Given the description of an element on the screen output the (x, y) to click on. 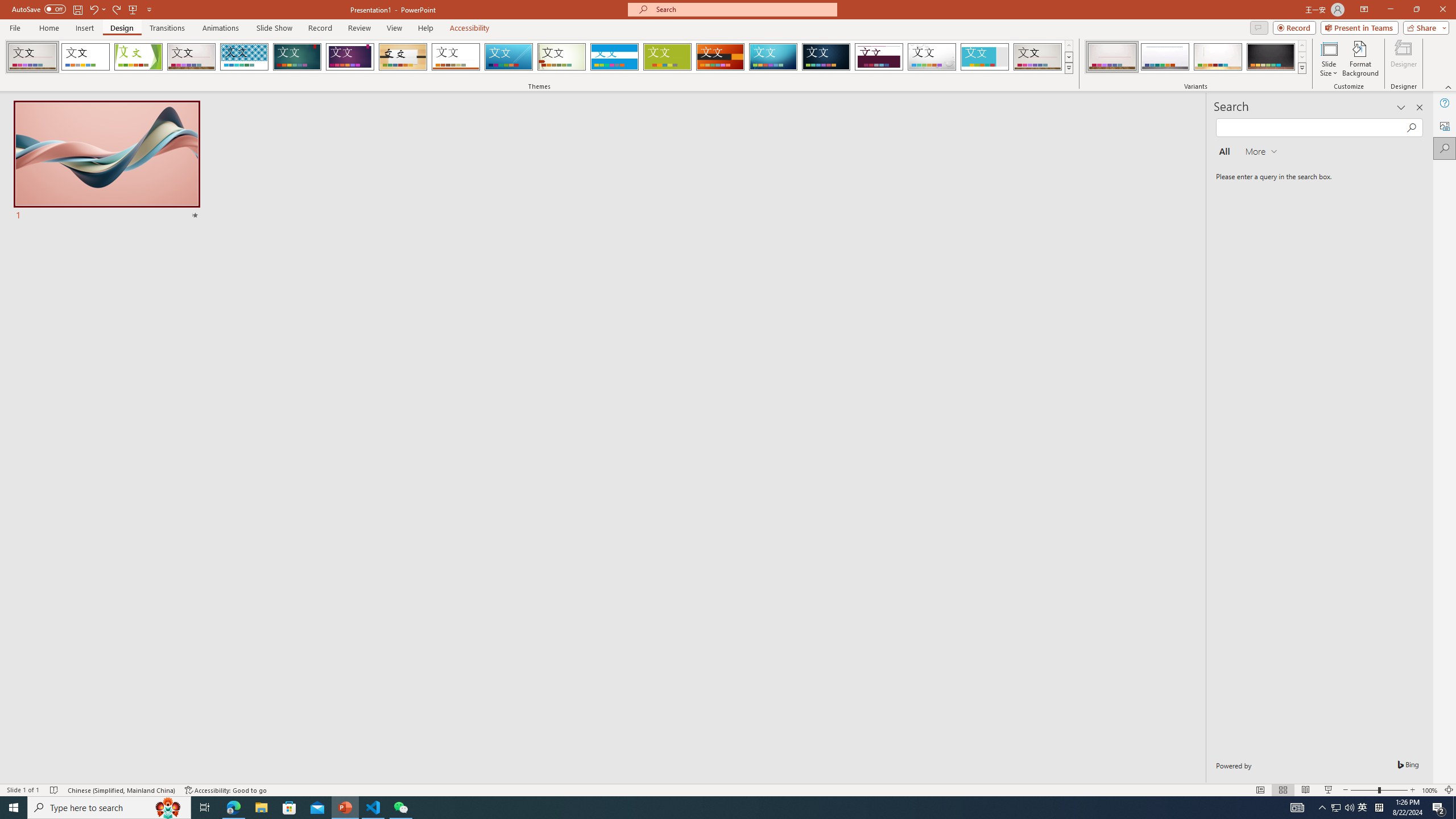
AutomationID: SlideThemesGallery (539, 56)
Gallery Variant 3 (1217, 56)
Gallery (1037, 56)
